Given the description of an element on the screen output the (x, y) to click on. 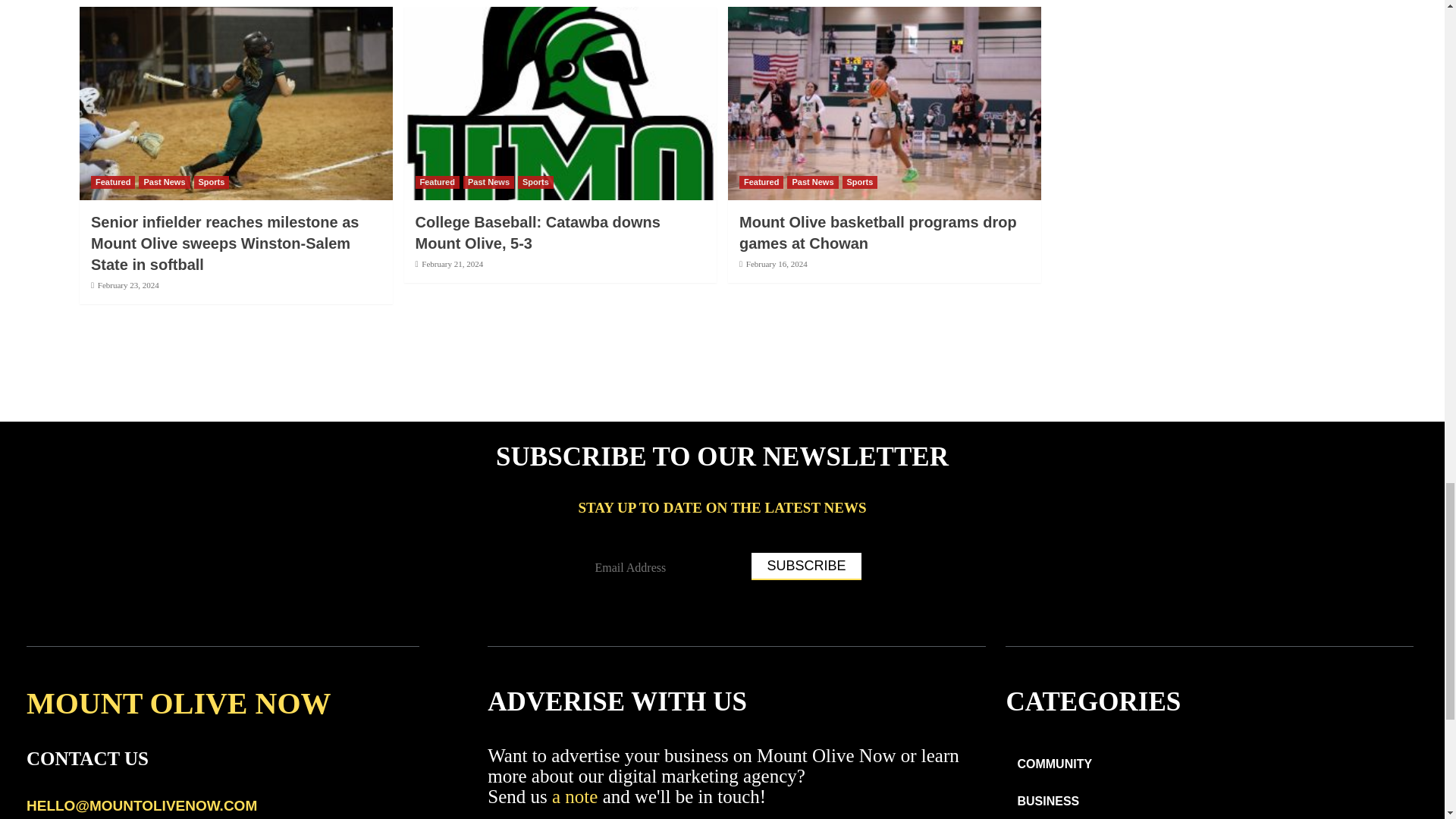
College Baseball: Catawba downs Mount Olive, 5-3 (537, 232)
Past News (812, 182)
Featured (437, 182)
February 21, 2024 (452, 263)
Sports (535, 182)
Featured (761, 182)
Featured (112, 182)
Past News (488, 182)
Past News (163, 182)
Sports (211, 182)
February 23, 2024 (127, 284)
